Given the description of an element on the screen output the (x, y) to click on. 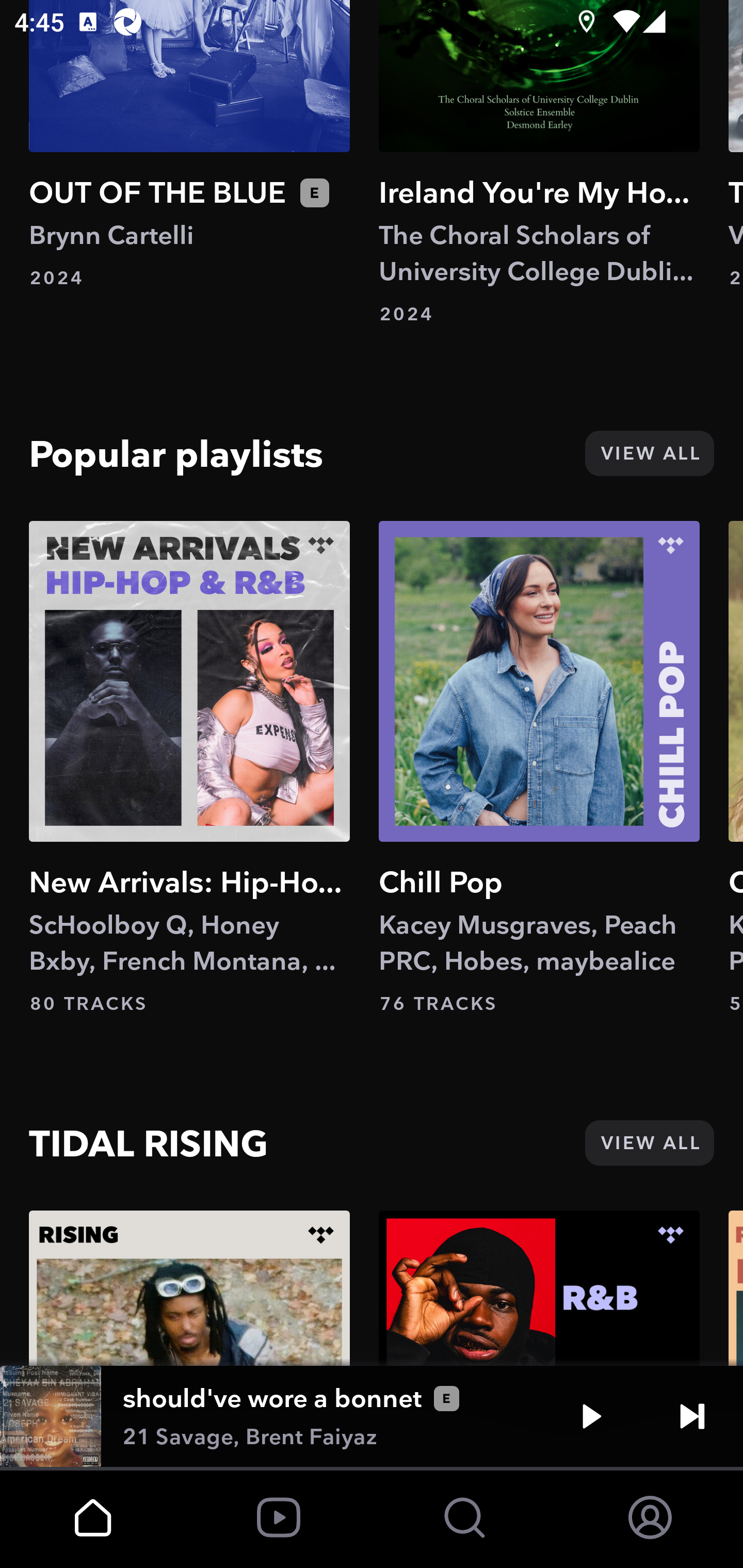
OUT OF THE BLUE Brynn Cartelli 2024 (188, 145)
VIEW ALL (649, 453)
VIEW ALL (649, 1142)
Play (590, 1416)
